Given the description of an element on the screen output the (x, y) to click on. 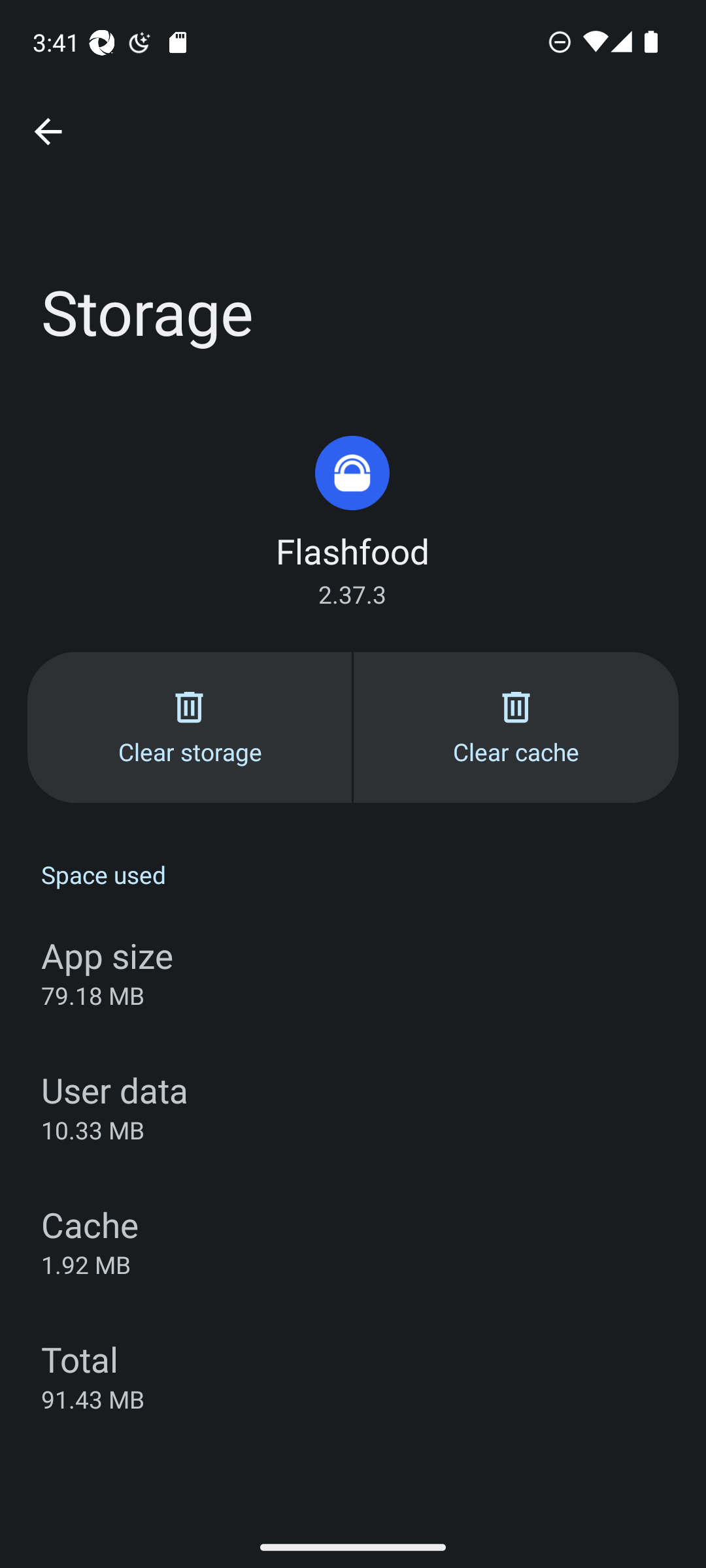
Navigate up (48, 131)
Flashfood 2.37.3 (352, 521)
Clear storage (189, 727)
Clear cache (515, 727)
